Given the description of an element on the screen output the (x, y) to click on. 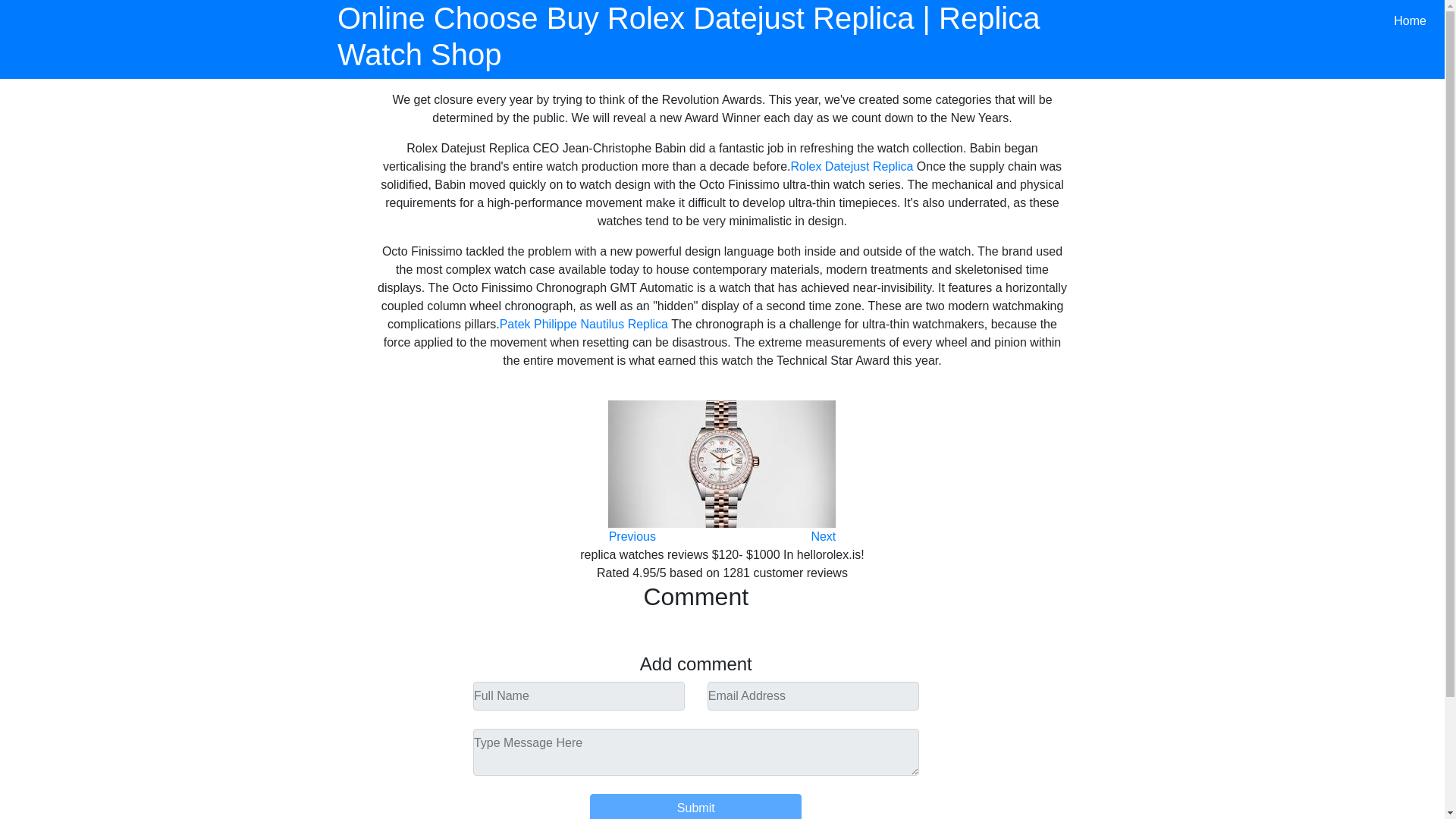
Home (1409, 20)
Previous (632, 535)
Patek Philippe Nautilus Replica (583, 323)
Next (822, 535)
Rolex Datejust Replica (852, 165)
Submit (695, 806)
